Given the description of an element on the screen output the (x, y) to click on. 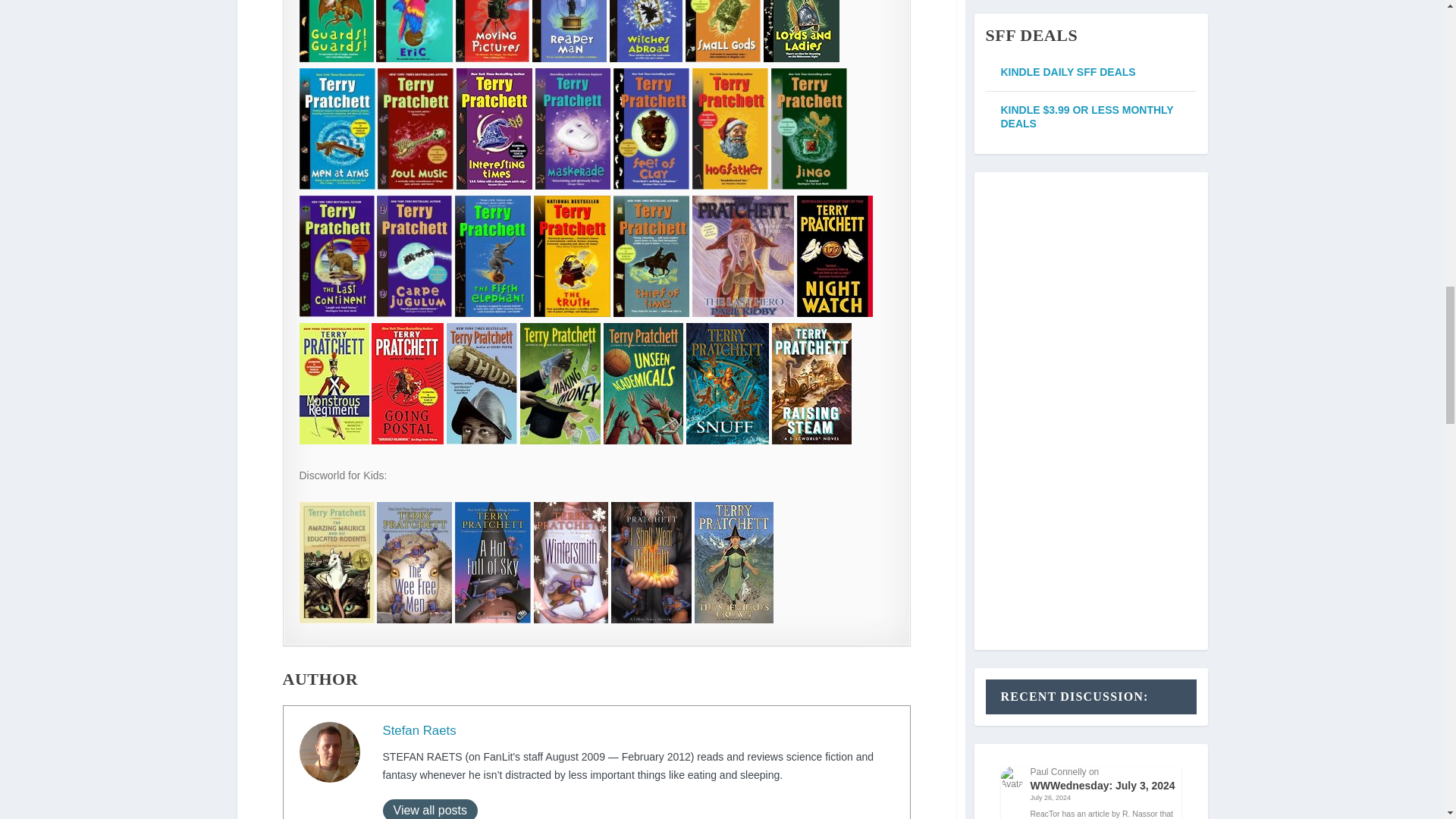
View all posts (429, 809)
Stefan Raets (418, 730)
